Given the description of an element on the screen output the (x, y) to click on. 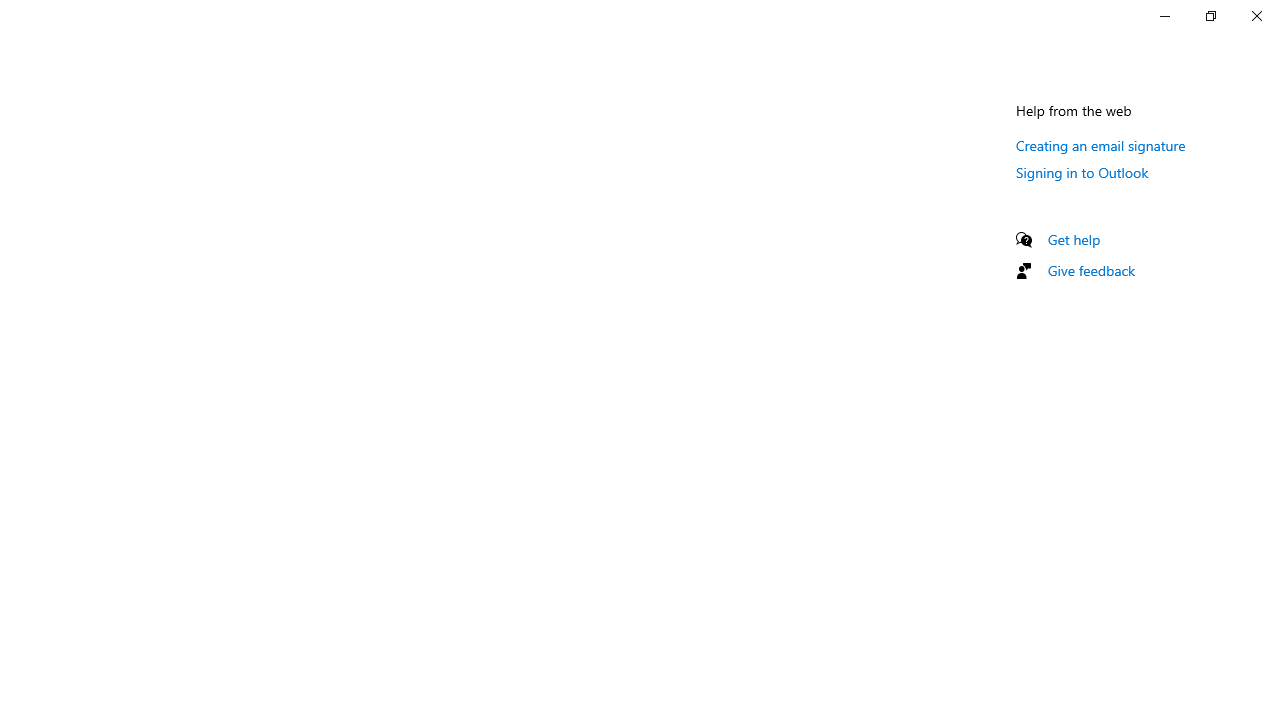
Signing in to Outlook (1082, 172)
Creating an email signature (1101, 145)
Get help (1074, 239)
Minimize Settings (1164, 15)
Give feedback (1091, 270)
Close Settings (1256, 15)
Restore Settings (1210, 15)
